Given the description of an element on the screen output the (x, y) to click on. 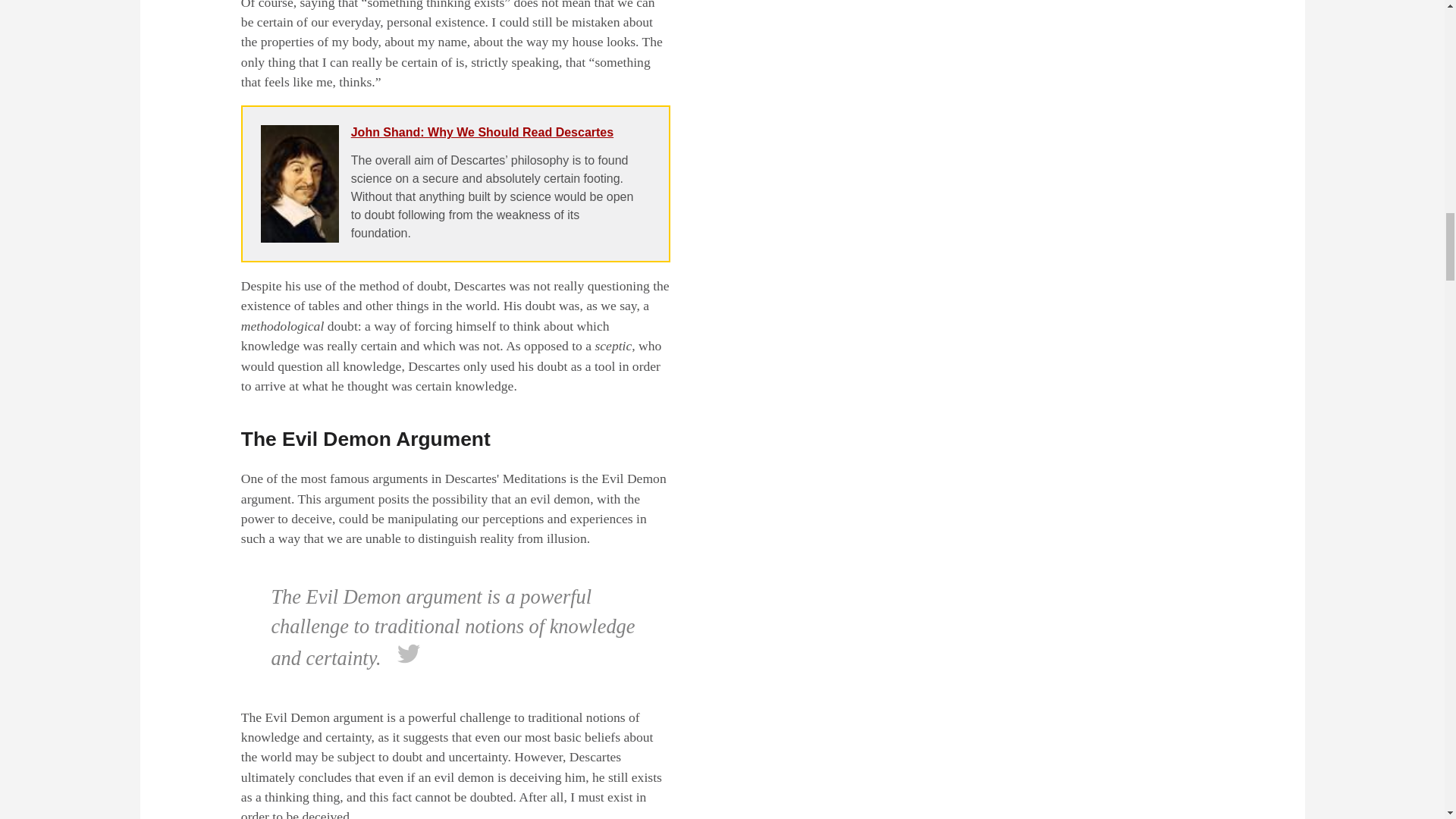
John Shand: Why We Should Read Descartes (481, 132)
